Given the description of an element on the screen output the (x, y) to click on. 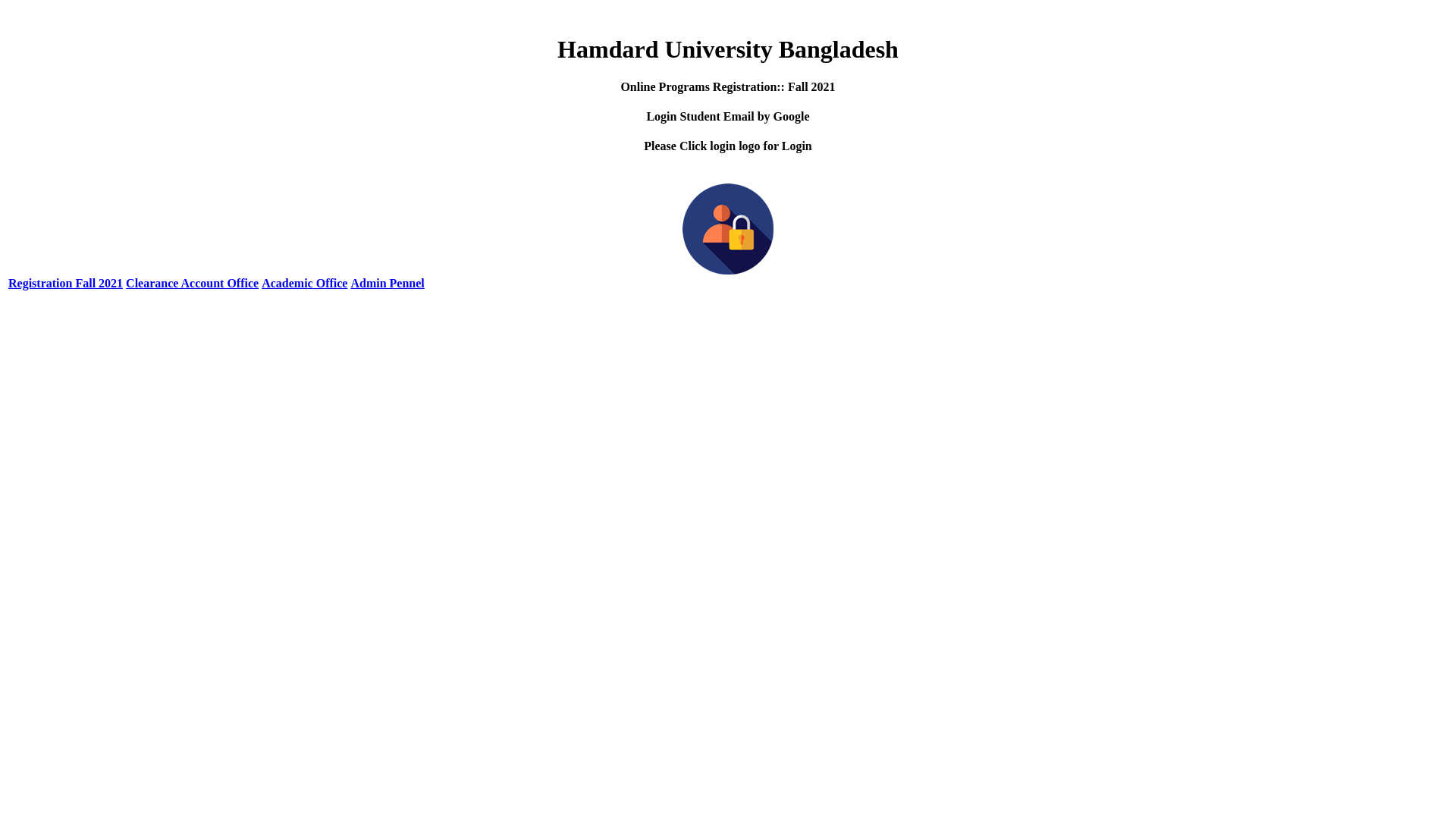
Registration Fall 2021 Element type: text (65, 282)
Clearance Account Office Element type: text (191, 282)
Admin Pennel Element type: text (386, 282)
Academic Office Element type: text (304, 282)
